Given the description of an element on the screen output the (x, y) to click on. 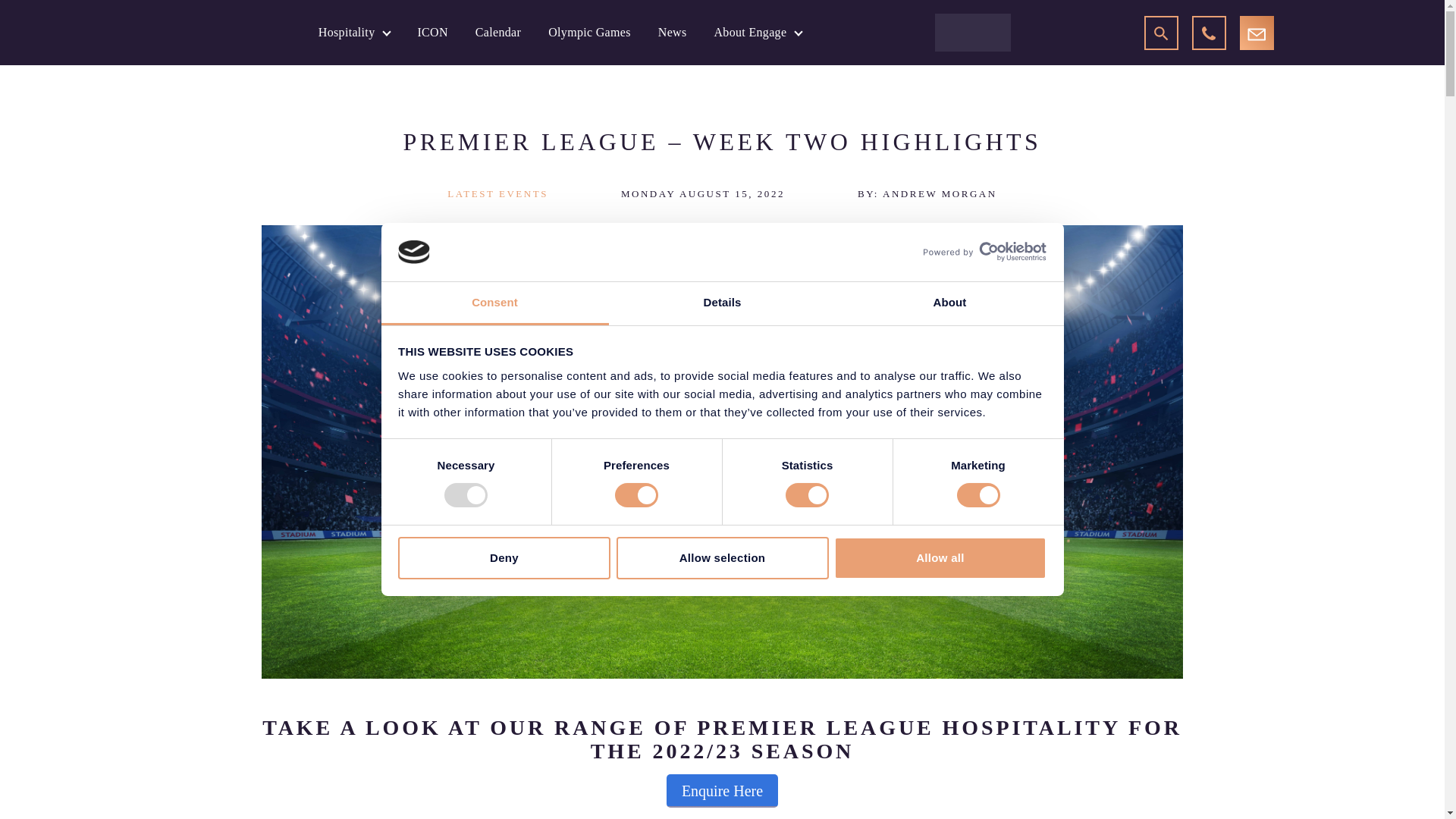
Consent (494, 303)
About (948, 303)
Details (721, 303)
